Given the description of an element on the screen output the (x, y) to click on. 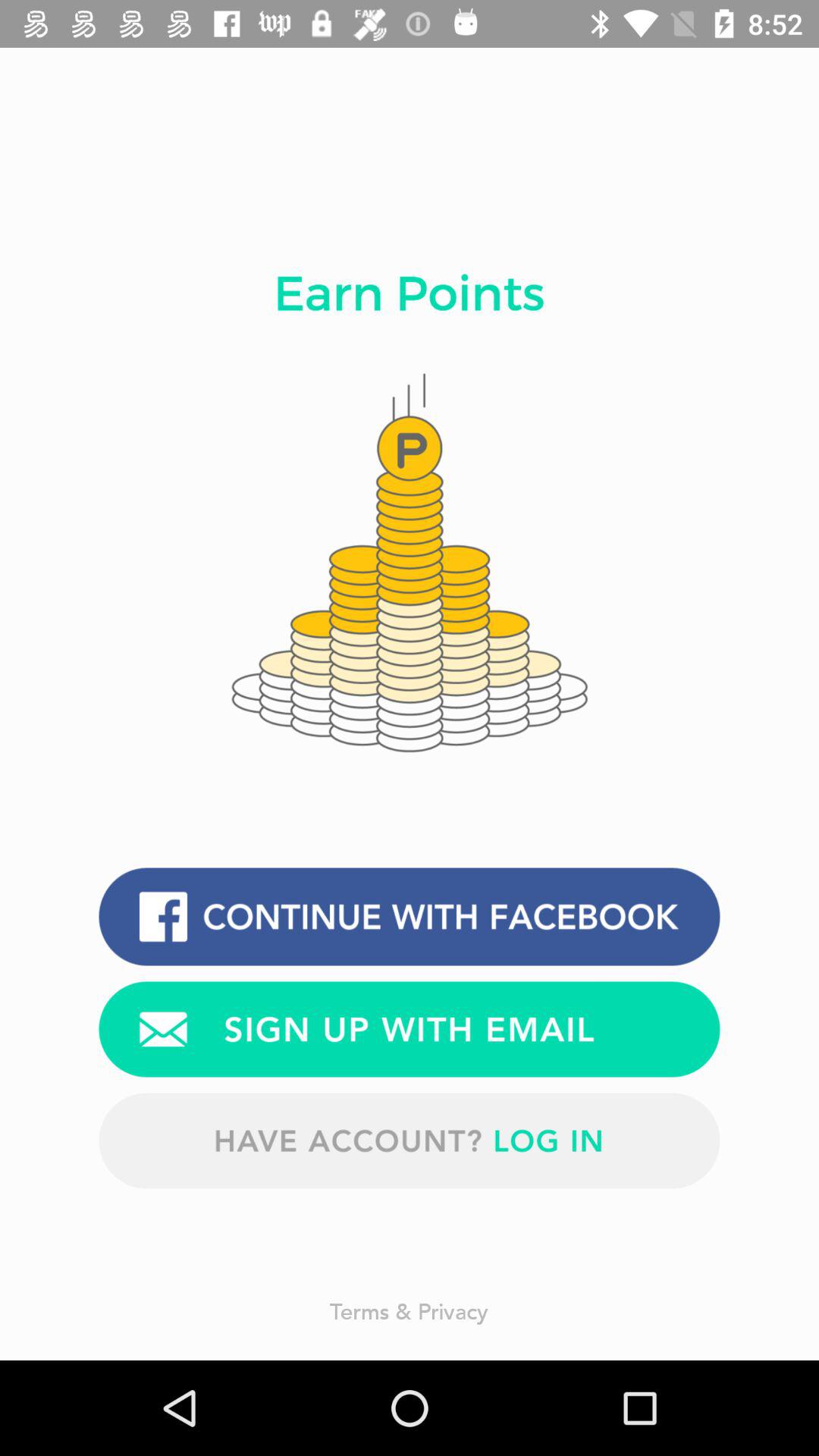
select terms & privacy item (408, 1310)
